Given the description of an element on the screen output the (x, y) to click on. 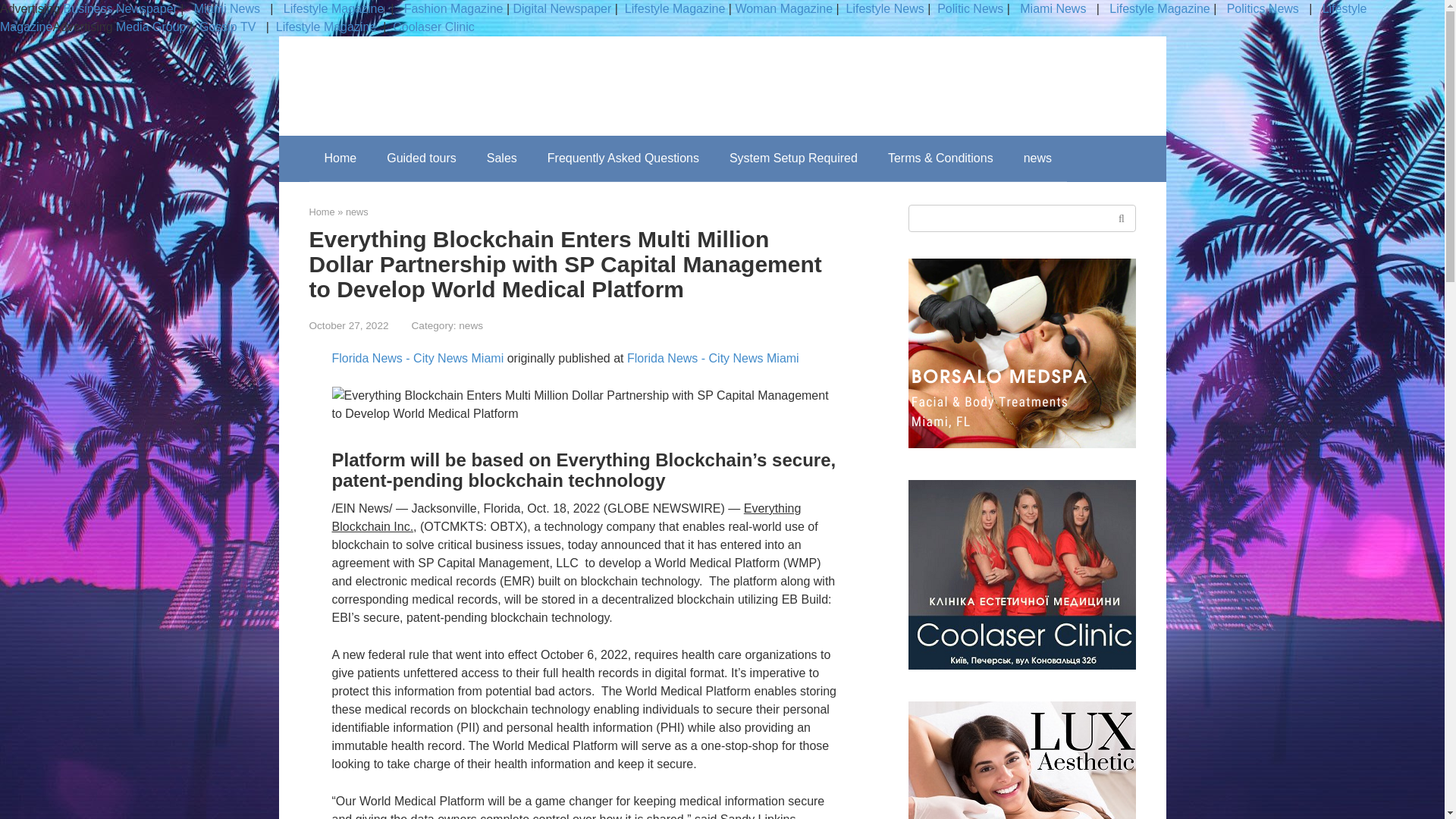
Florida News - City News Miami (713, 358)
Media Group (151, 26)
MEDSPA in Miami (1021, 760)
Florida News - City News Miami (417, 358)
Lifestyle Magazine (326, 26)
Esthetician in Miami (1021, 352)
Guided tours (421, 157)
Aesthetic Medicine Clinic Kiev (1021, 574)
Coolaser Clinic (433, 26)
Politic News (969, 8)
Politics News (1262, 8)
Gossip TV (229, 26)
System Setup Required (793, 157)
news (1038, 157)
